Given the description of an element on the screen output the (x, y) to click on. 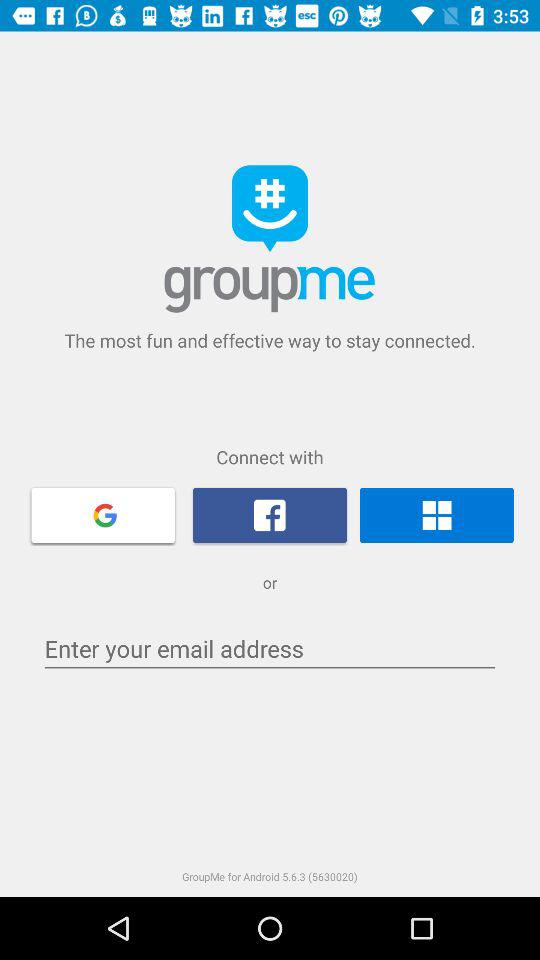
launch the item above the groupme for android icon (269, 648)
